Given the description of an element on the screen output the (x, y) to click on. 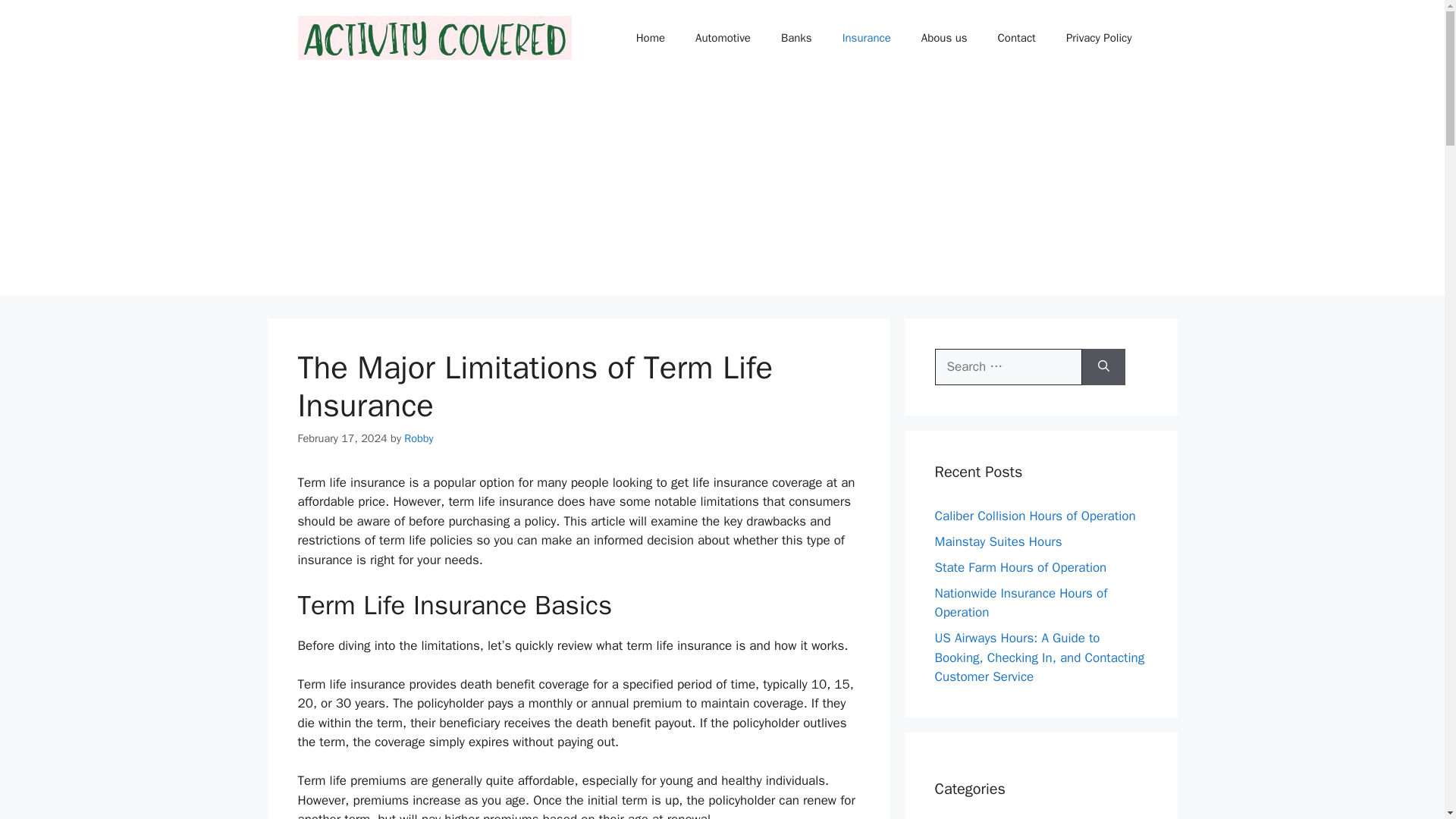
Automotive (722, 37)
Robby (418, 438)
Search for: (1007, 366)
Mainstay Suites Hours (997, 541)
Banks (796, 37)
Privacy Policy (1099, 37)
Abous us (943, 37)
Insurance (866, 37)
State Farm Hours of Operation (1020, 567)
Contact (1016, 37)
ACTIVITYCOVERED (433, 36)
Nationwide Insurance Hours of Operation (1020, 602)
ACTIVITYCOVERED (433, 37)
